Given the description of an element on the screen output the (x, y) to click on. 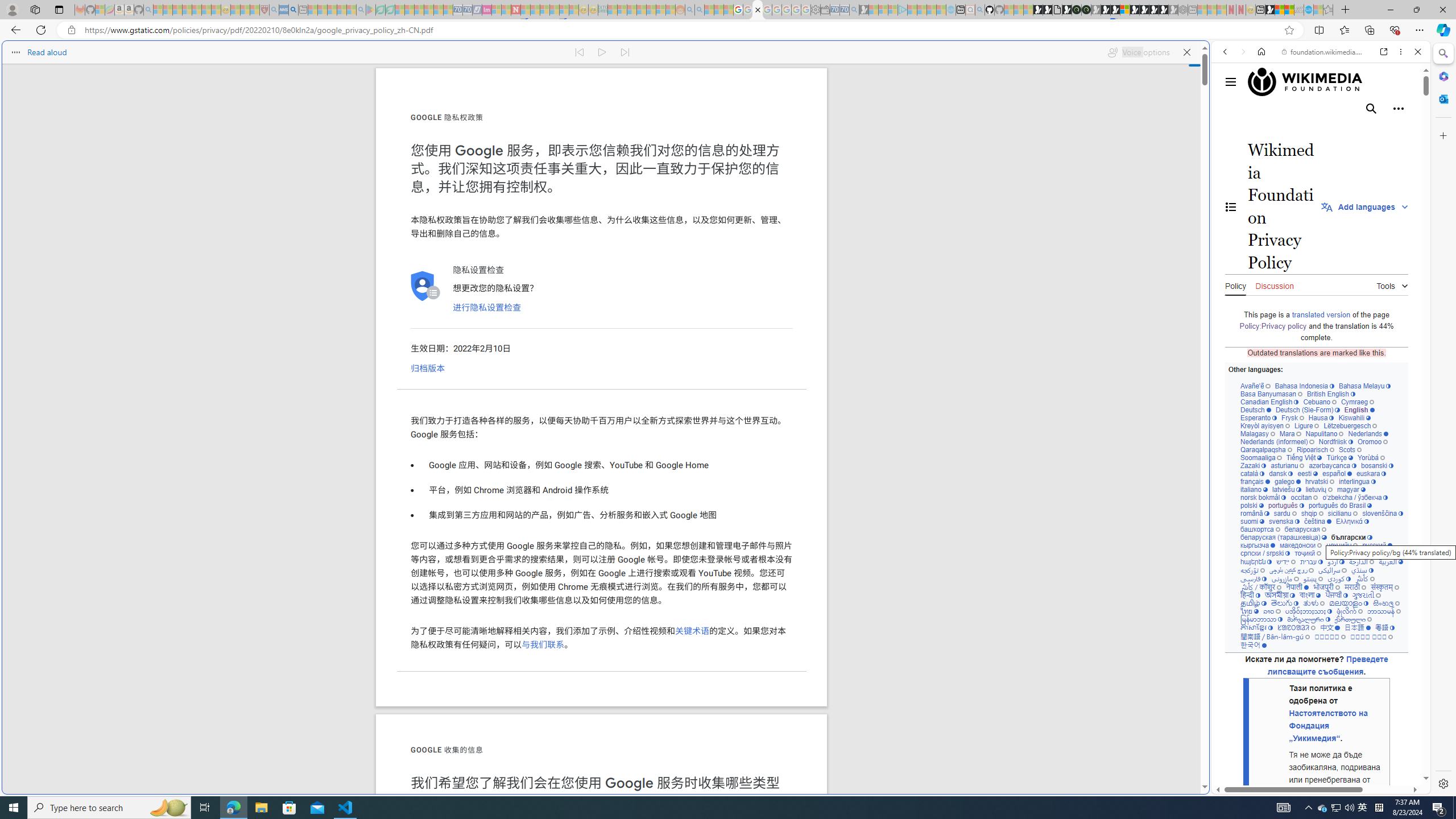
Esperanto (1258, 417)
